Given the description of an element on the screen output the (x, y) to click on. 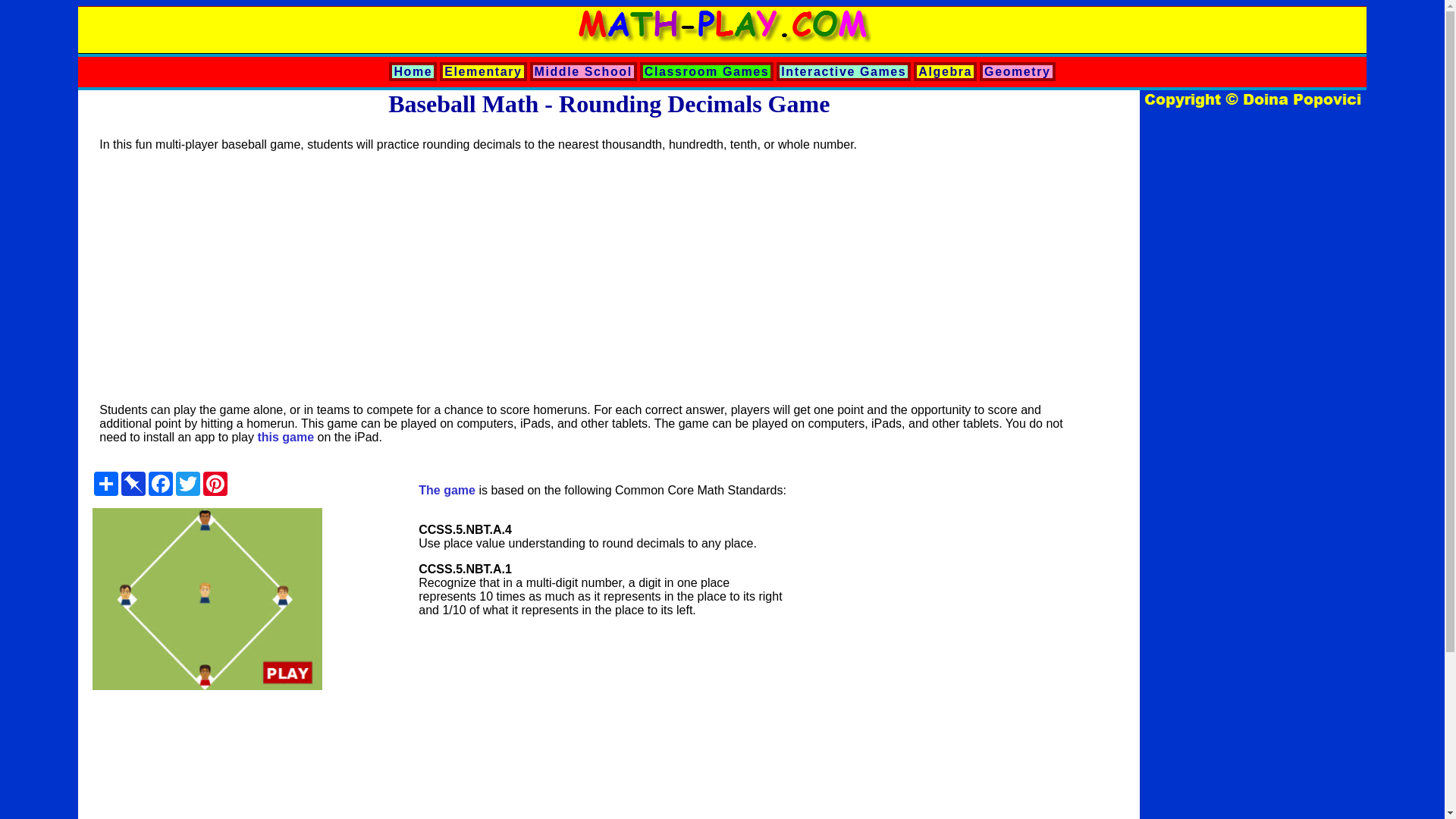
Advertisement (946, 765)
Twitter (188, 483)
Pinterest (215, 483)
Elementary (482, 71)
Classroom Games (707, 71)
Facebook (160, 483)
Middle School (582, 71)
Algebra (945, 71)
Geometry (1017, 71)
The game (447, 490)
